Given the description of an element on the screen output the (x, y) to click on. 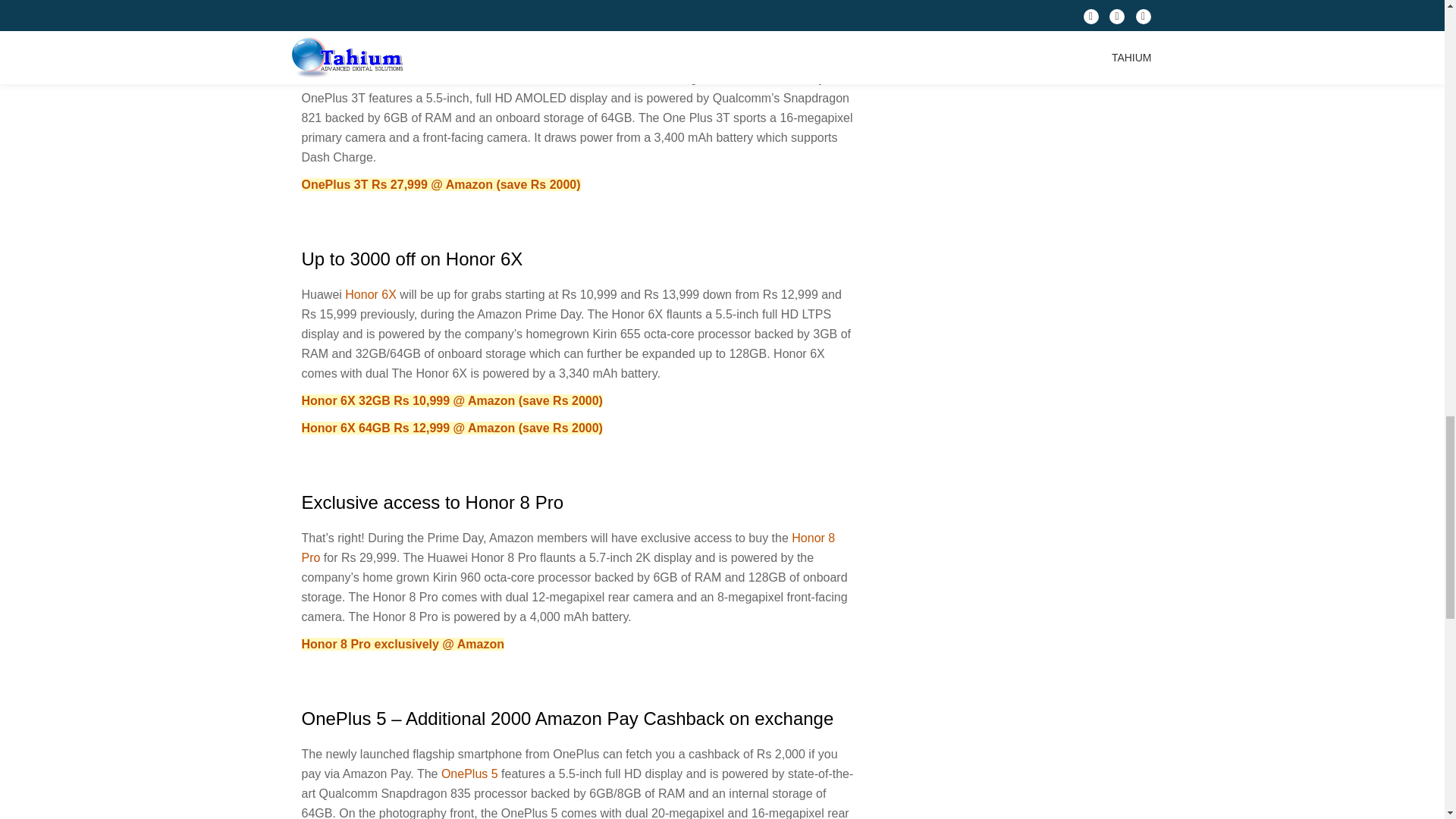
Honor 8 Pro (568, 547)
OnePlus 3T (358, 78)
Honor 6X (370, 294)
OnePlus 5 (469, 773)
